Given the description of an element on the screen output the (x, y) to click on. 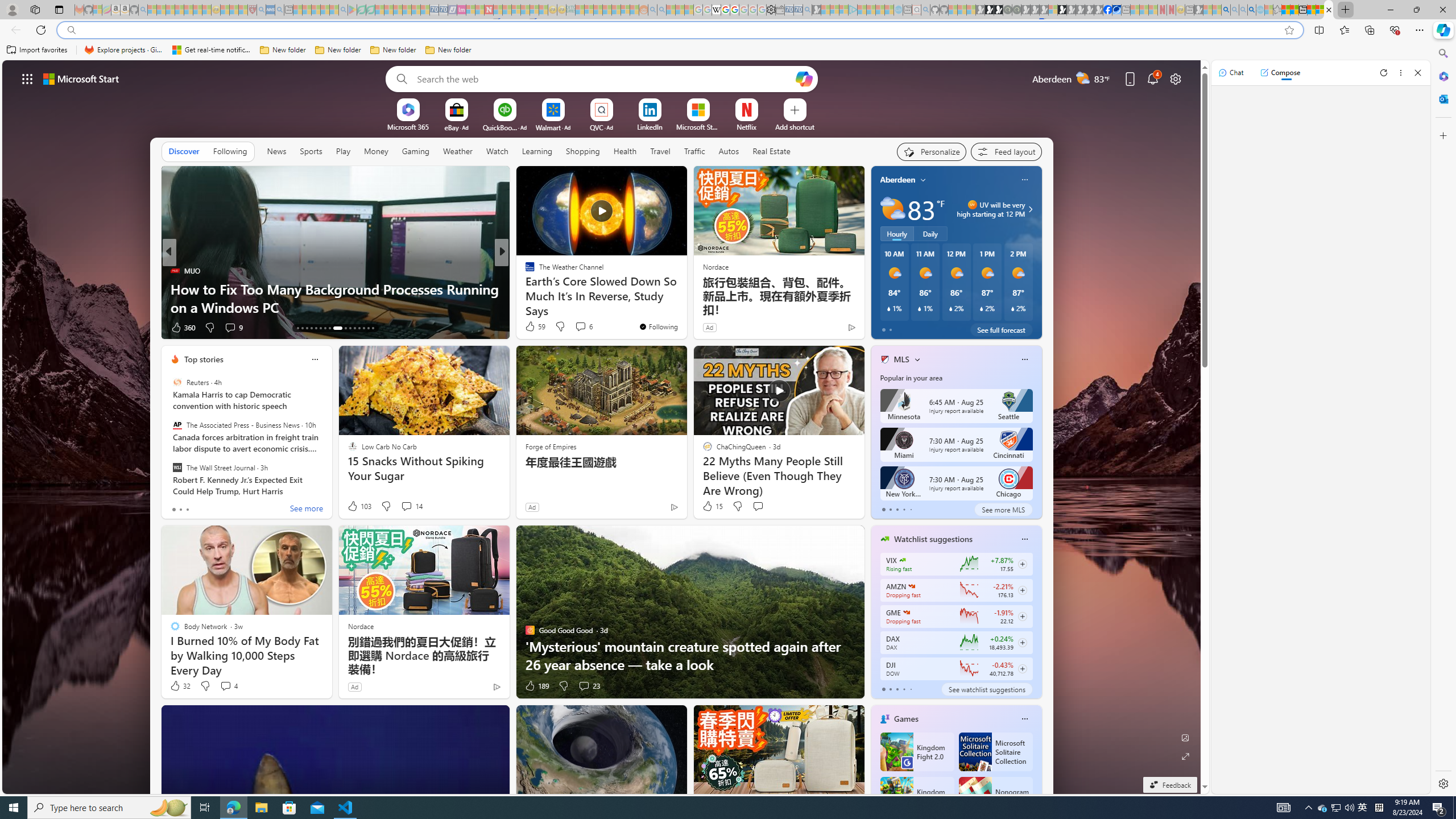
63 Like (530, 327)
Microsoft start (81, 78)
Gaming (415, 151)
35 Like (530, 327)
409 Like (532, 327)
App launcher (27, 78)
Microsoft Solitaire Collection (995, 751)
Compose (1279, 72)
Feed settings (1005, 151)
AutomationID: tab-25 (358, 328)
Expert Portfolios - Sleeping (606, 9)
Bing AI - Search (1225, 9)
MUO (174, 270)
